Given the description of an element on the screen output the (x, y) to click on. 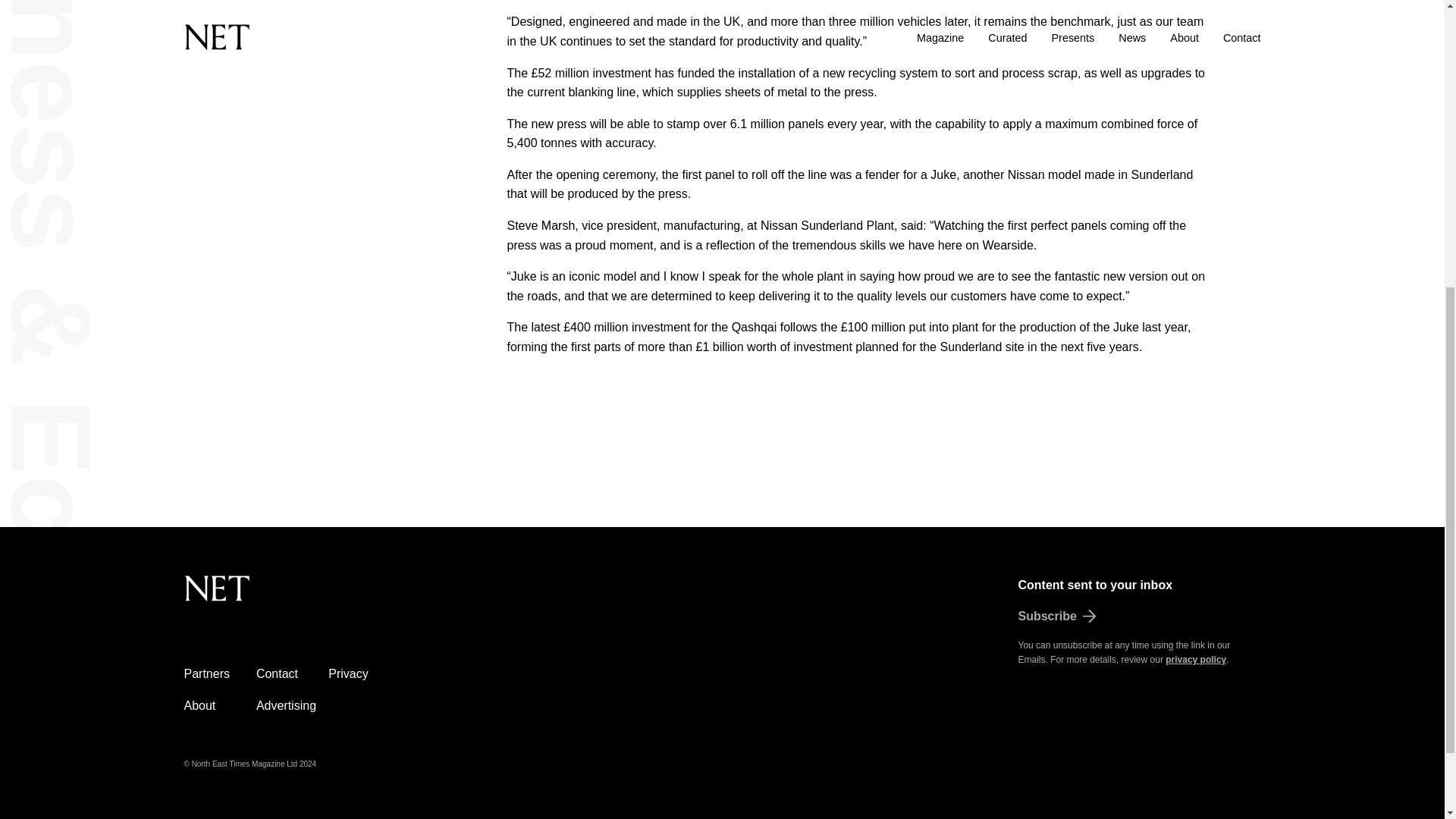
Subscribe to the North East Times Magazine newsletter (1138, 616)
Subscribe (1138, 616)
privacy policy (1195, 659)
Partners (205, 673)
Privacy (348, 673)
About (199, 705)
Advertising (285, 705)
Read our full privacy notice (1195, 659)
Return to the top of this page (293, 596)
Contact (277, 673)
